Given the description of an element on the screen output the (x, y) to click on. 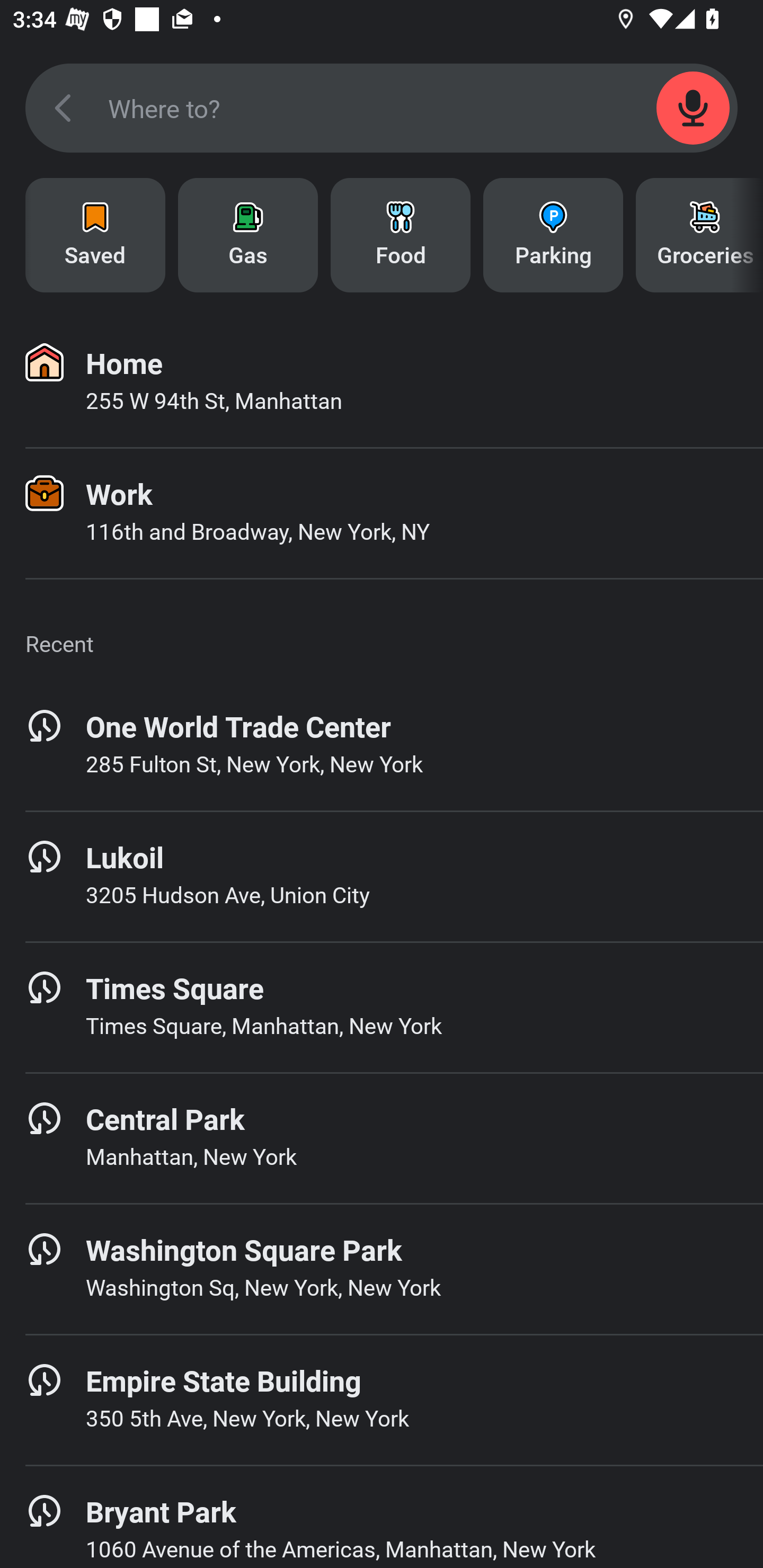
SEARCH_SCREEN_SEARCH_FIELD Where to? (381, 108)
Saved (95, 234)
Gas (247, 234)
Food (400, 234)
Parking (552, 234)
Groceries (699, 234)
Home 255 W 94th St, Manhattan (381, 382)
Work 116th and Broadway, New York, NY (381, 513)
Lukoil 3205 Hudson Ave, Union City (381, 876)
Times Square Times Square, Manhattan, New York (381, 1007)
Central Park Manhattan, New York (381, 1138)
